Given the description of an element on the screen output the (x, y) to click on. 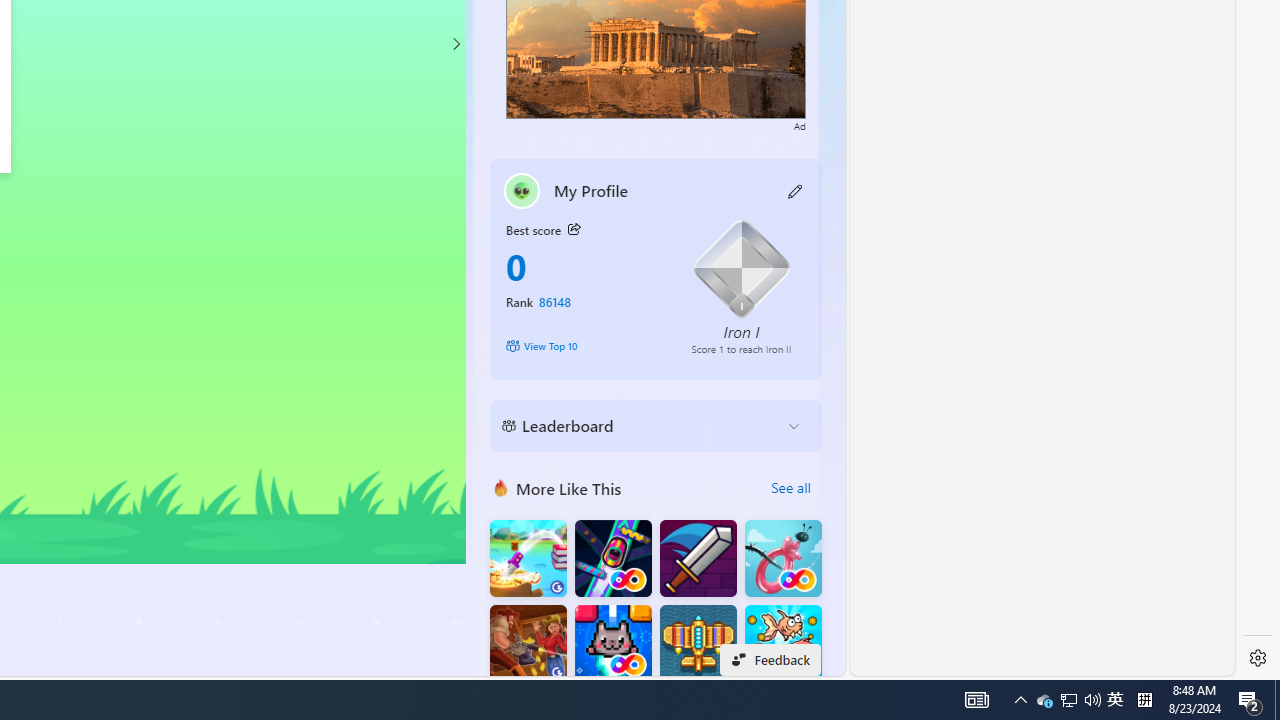
""'s avatar (522, 190)
Leaderboard (639, 425)
Atlantic Sky Hunter (698, 643)
Fish Merge FRVR (783, 643)
Class: control (455, 43)
Saloon Robbery (528, 643)
See all (790, 487)
Dungeon Master Knight (698, 558)
Class: button edit-icon (795, 190)
Balloon FRVR (783, 558)
See all (790, 487)
Kitten Force FRVR (612, 643)
Class: button (574, 229)
Knife Flip (528, 558)
